Given the description of an element on the screen output the (x, y) to click on. 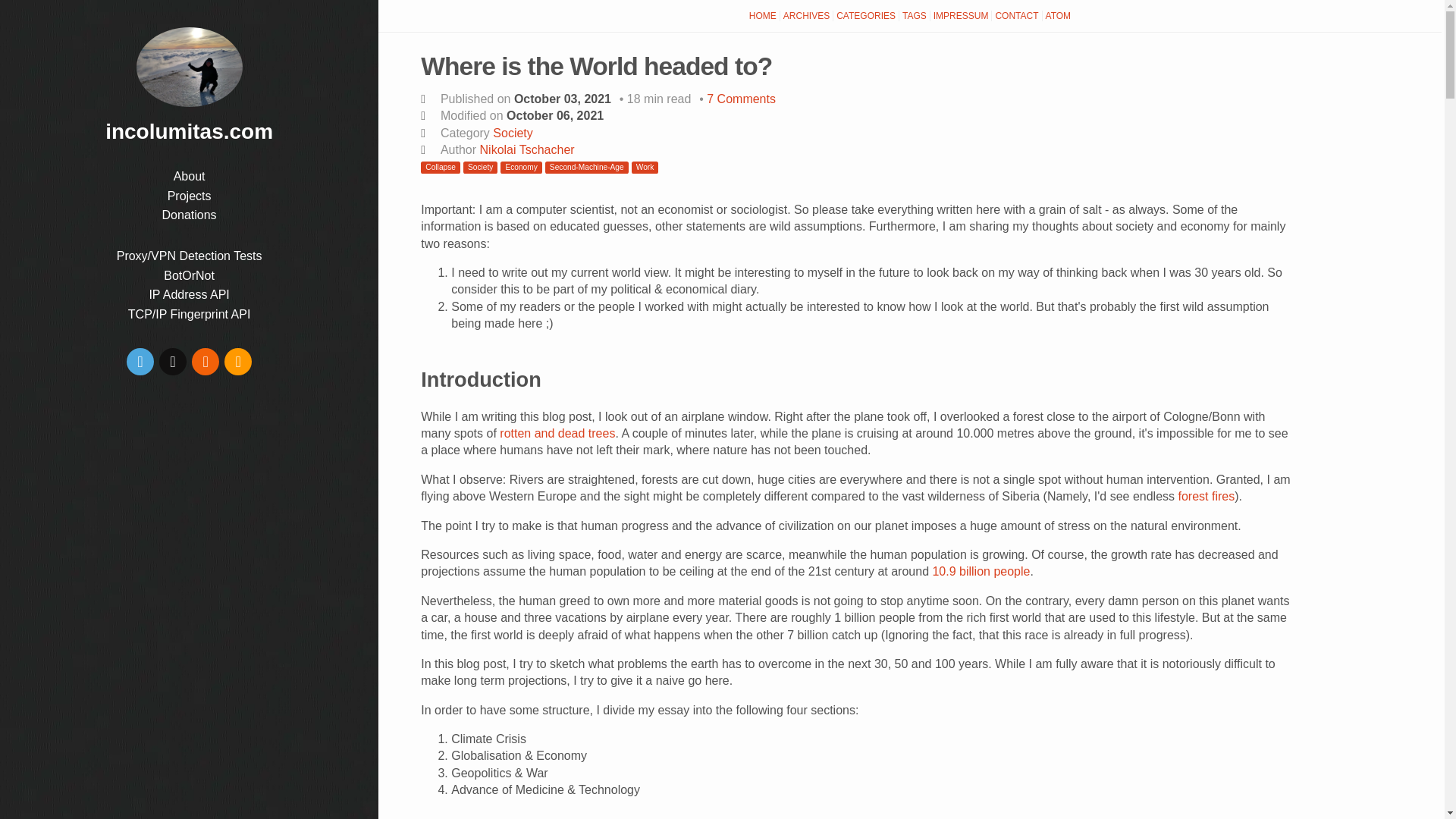
Economy (520, 166)
7 Comments (741, 98)
BotOrNot (188, 275)
ARCHIVES (806, 15)
Projects (189, 195)
Donations (188, 214)
IMPRESSUM (961, 15)
CONTACT (1016, 15)
Society (512, 132)
TAGS (914, 15)
IP Address API (188, 294)
forest fires (1205, 495)
HOME (762, 15)
incolumitas.com (188, 131)
CATEGORIES (865, 15)
